Given the description of an element on the screen output the (x, y) to click on. 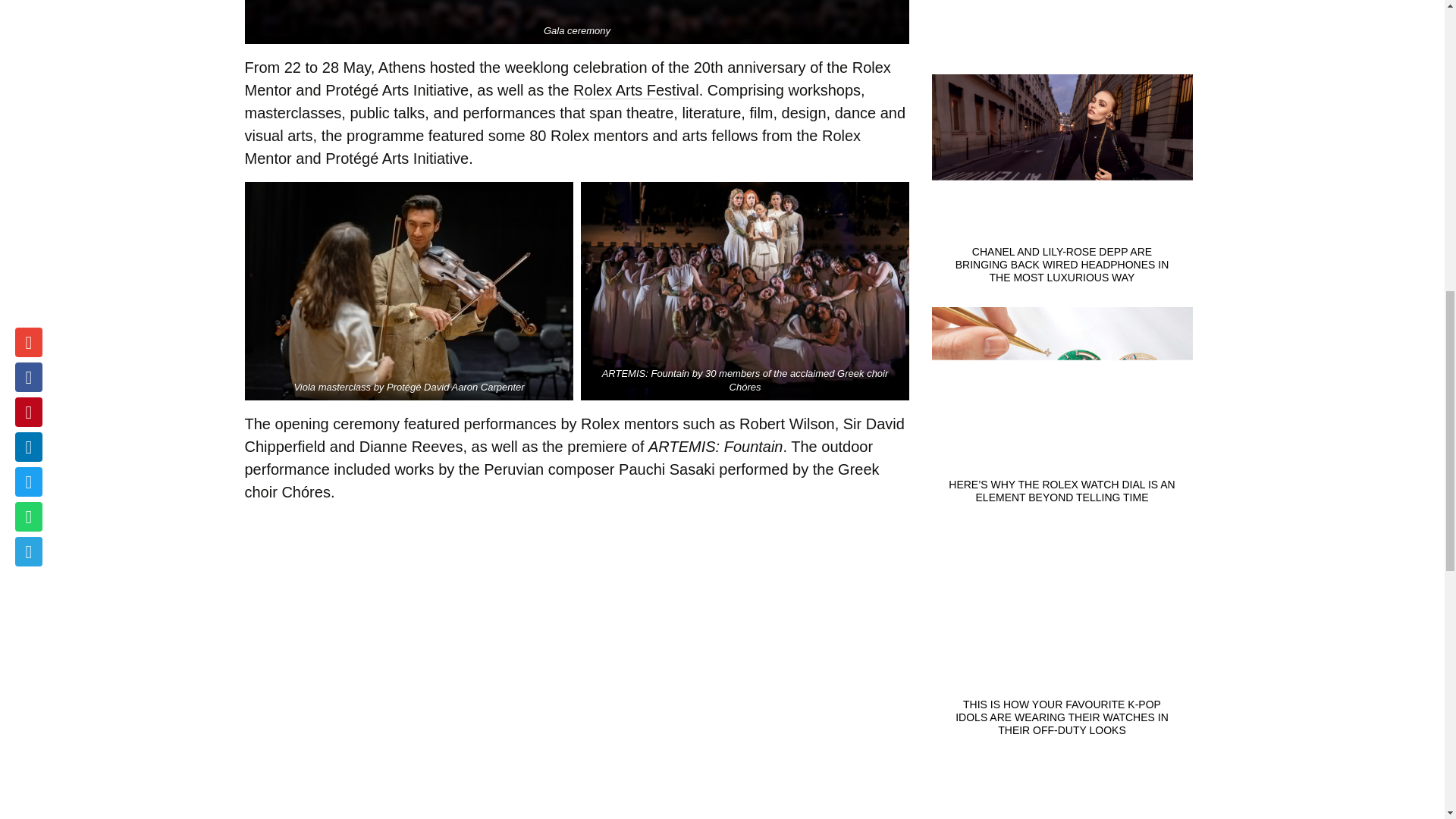
Rolex Arts Festival (635, 90)
